Given the description of an element on the screen output the (x, y) to click on. 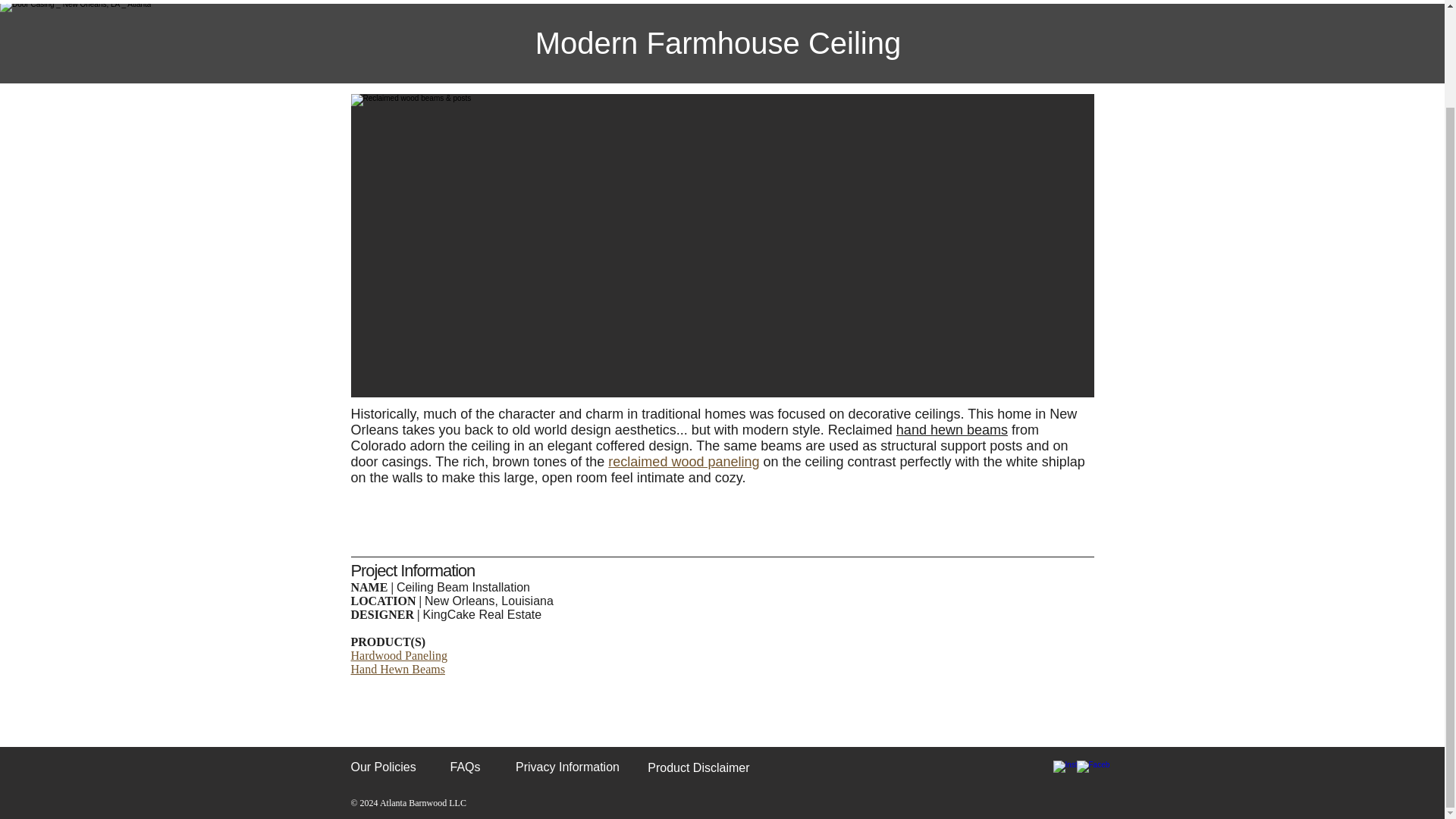
Hand Hewn Beams (397, 668)
Product Disclaimer (698, 767)
reclaimed wood paneling (683, 461)
Our Policies (382, 766)
Privacy Information (567, 766)
FAQs (464, 766)
Hardwood Paneling (398, 655)
hand hewn beams (951, 429)
